Given the description of an element on the screen output the (x, y) to click on. 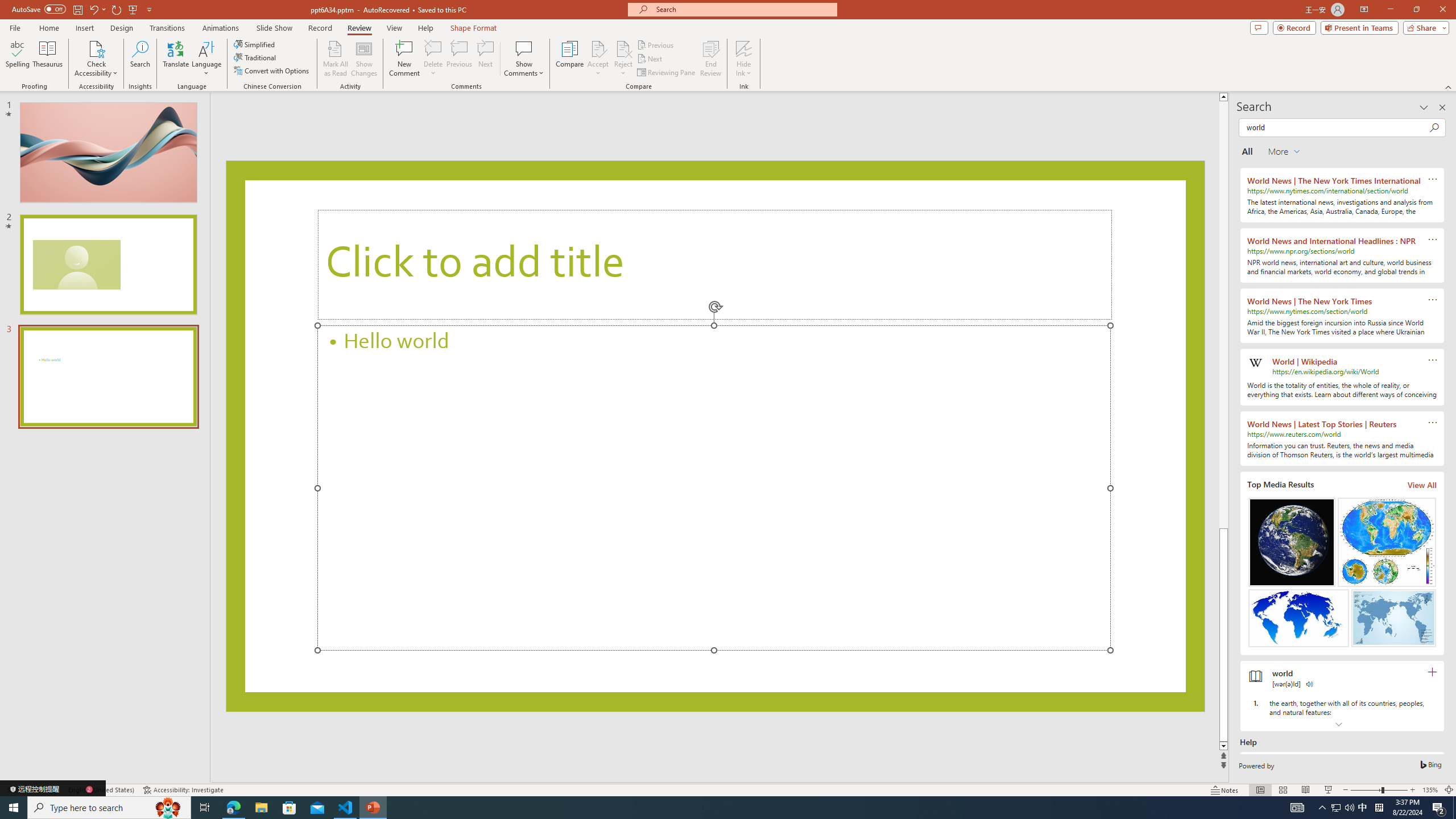
Mark All as Read (335, 58)
Zoom 135% (1430, 790)
Next (649, 58)
New Comment (403, 58)
End Review (710, 58)
Translate (175, 58)
